Given the description of an element on the screen output the (x, y) to click on. 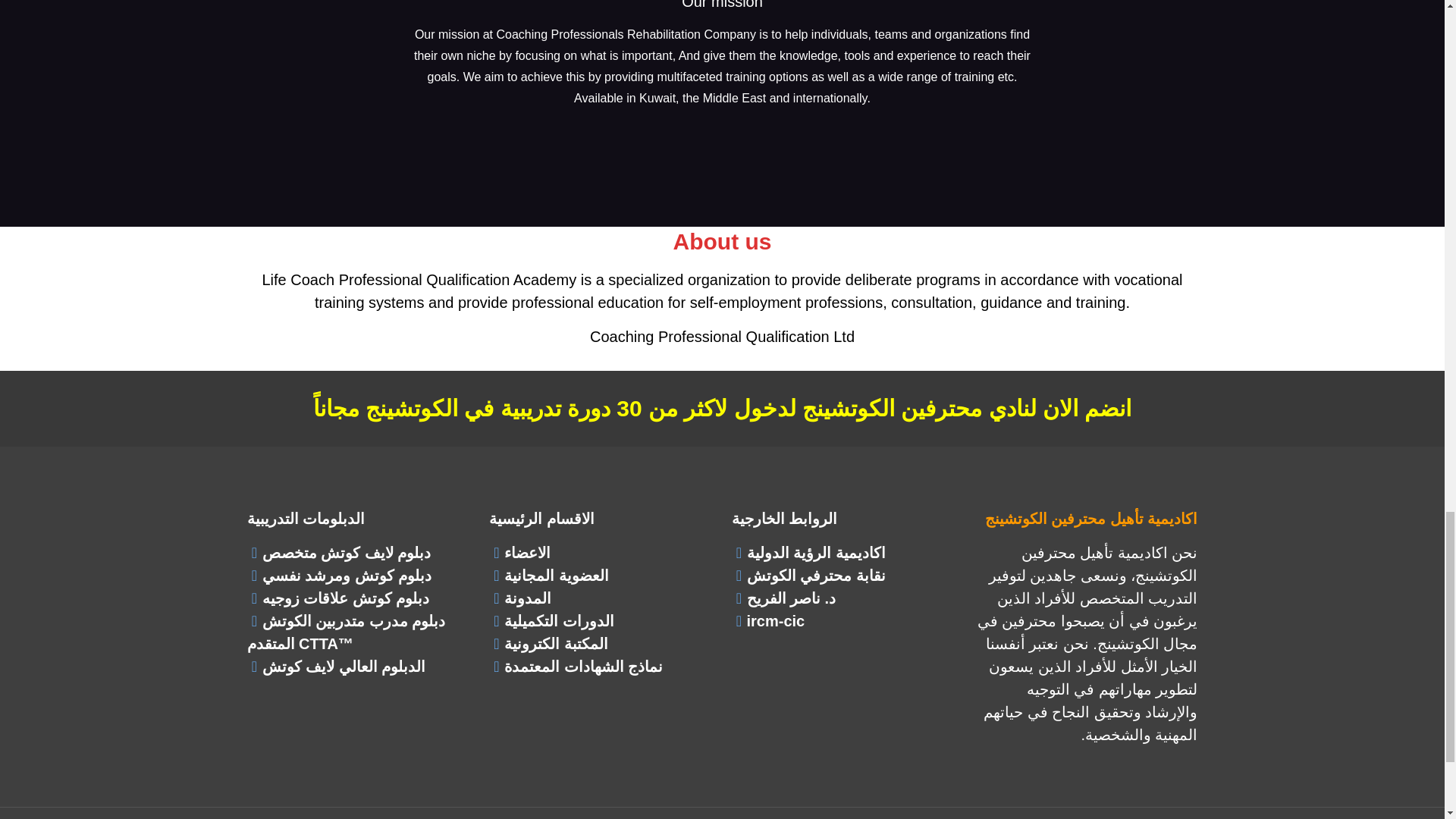
Coaching Professional Qualification Ltd (721, 336)
